Given the description of an element on the screen output the (x, y) to click on. 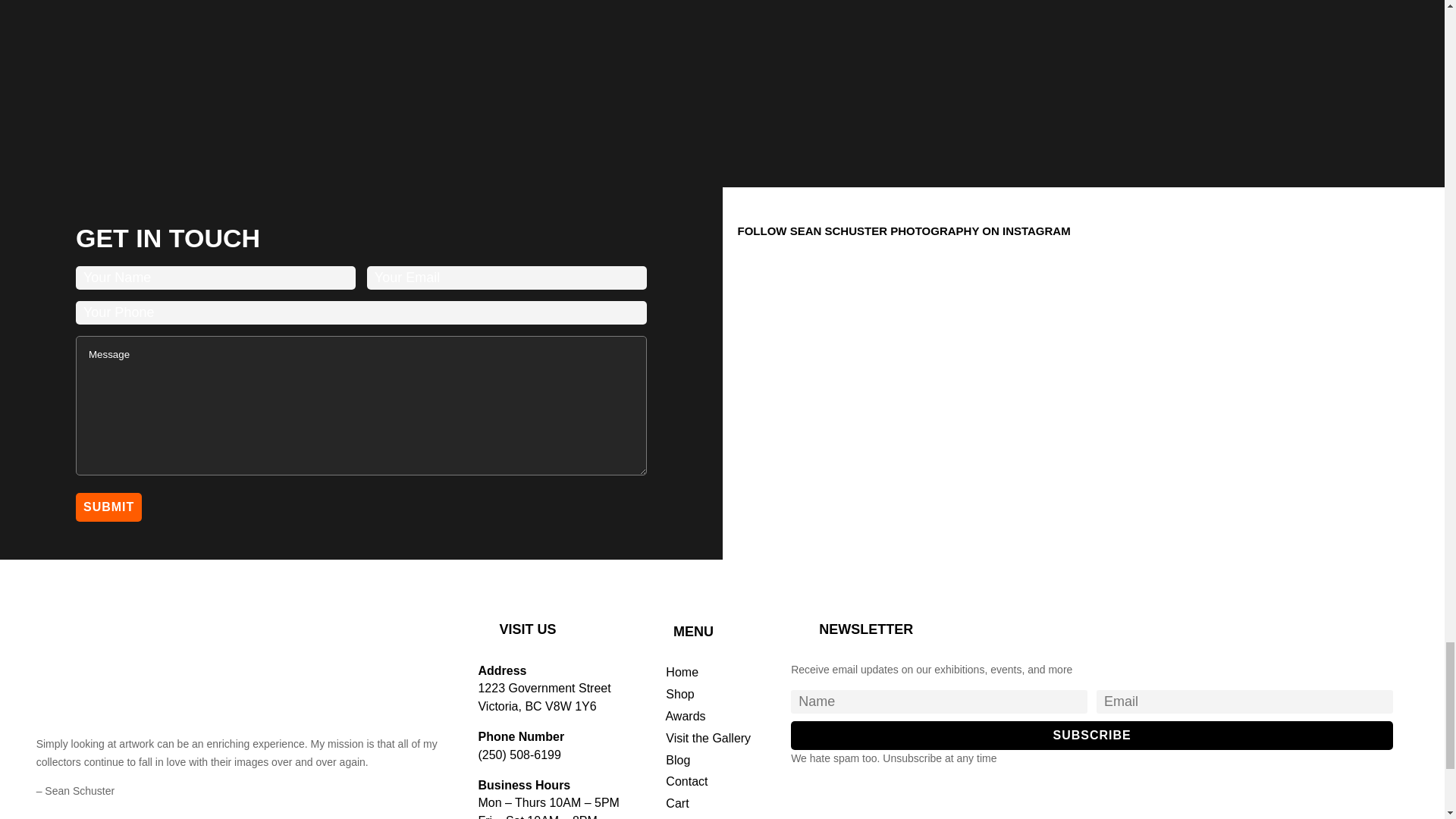
Submit (108, 507)
SUBSCRIBE (1091, 735)
Submit (108, 507)
